Given the description of an element on the screen output the (x, y) to click on. 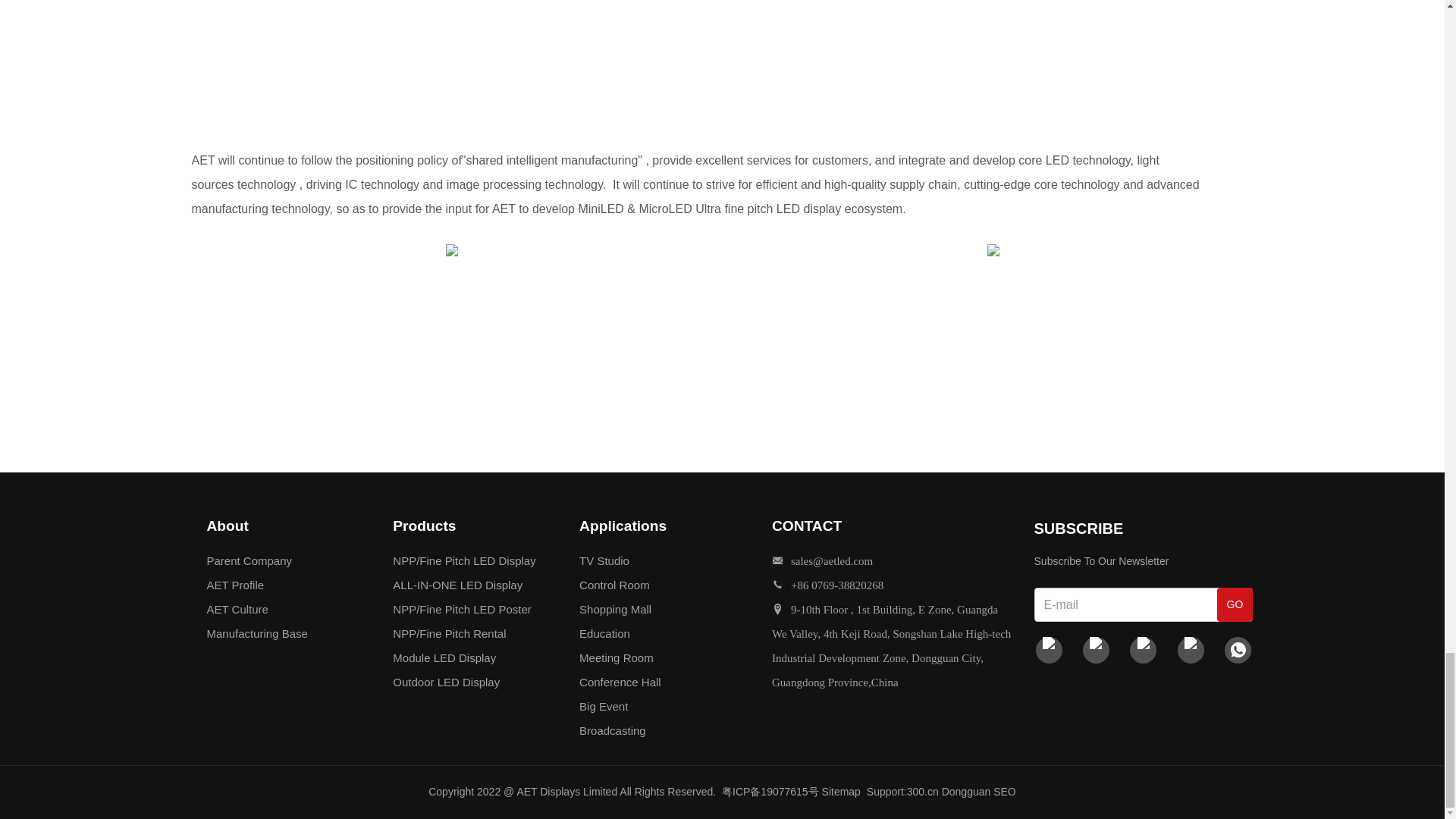
pic (992, 250)
pic (451, 250)
